Given the description of an element on the screen output the (x, y) to click on. 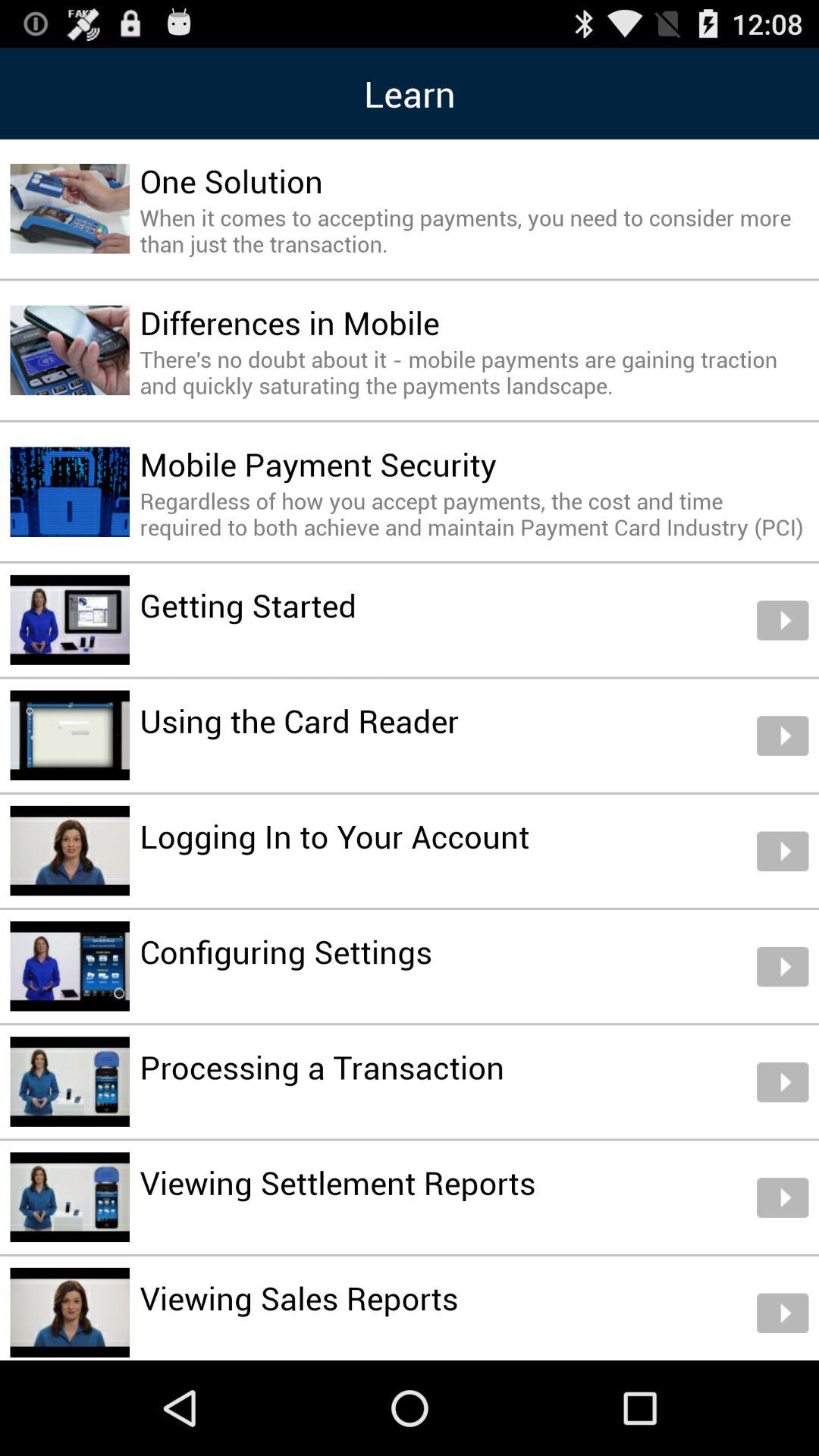
click icon below the there s no (317, 463)
